Given the description of an element on the screen output the (x, y) to click on. 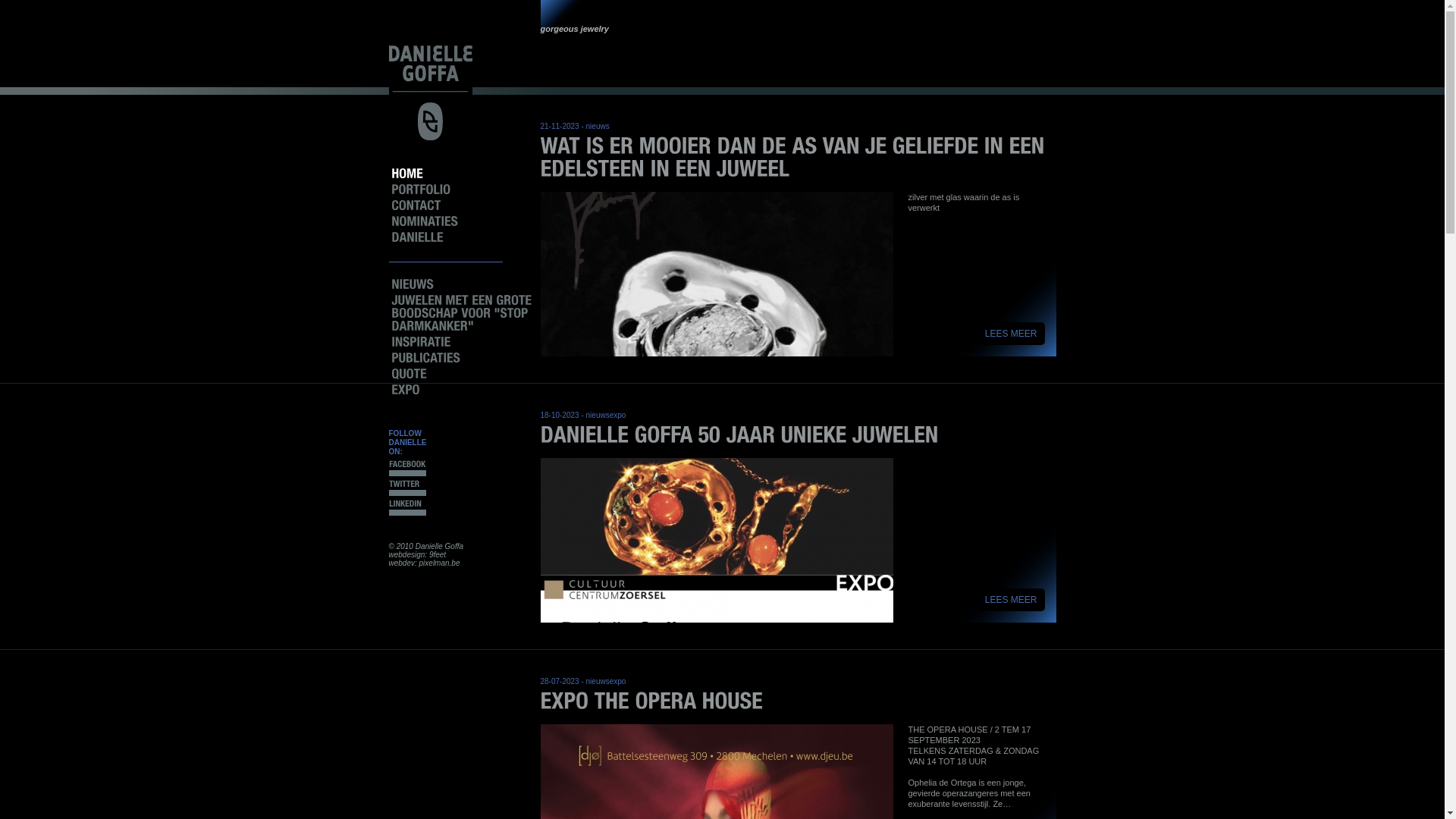
LEES MEER Element type: text (1010, 333)
LEES MEER Element type: text (1010, 599)
9feet Element type: text (437, 554)
pixelman.be Element type: text (439, 562)
